Given the description of an element on the screen output the (x, y) to click on. 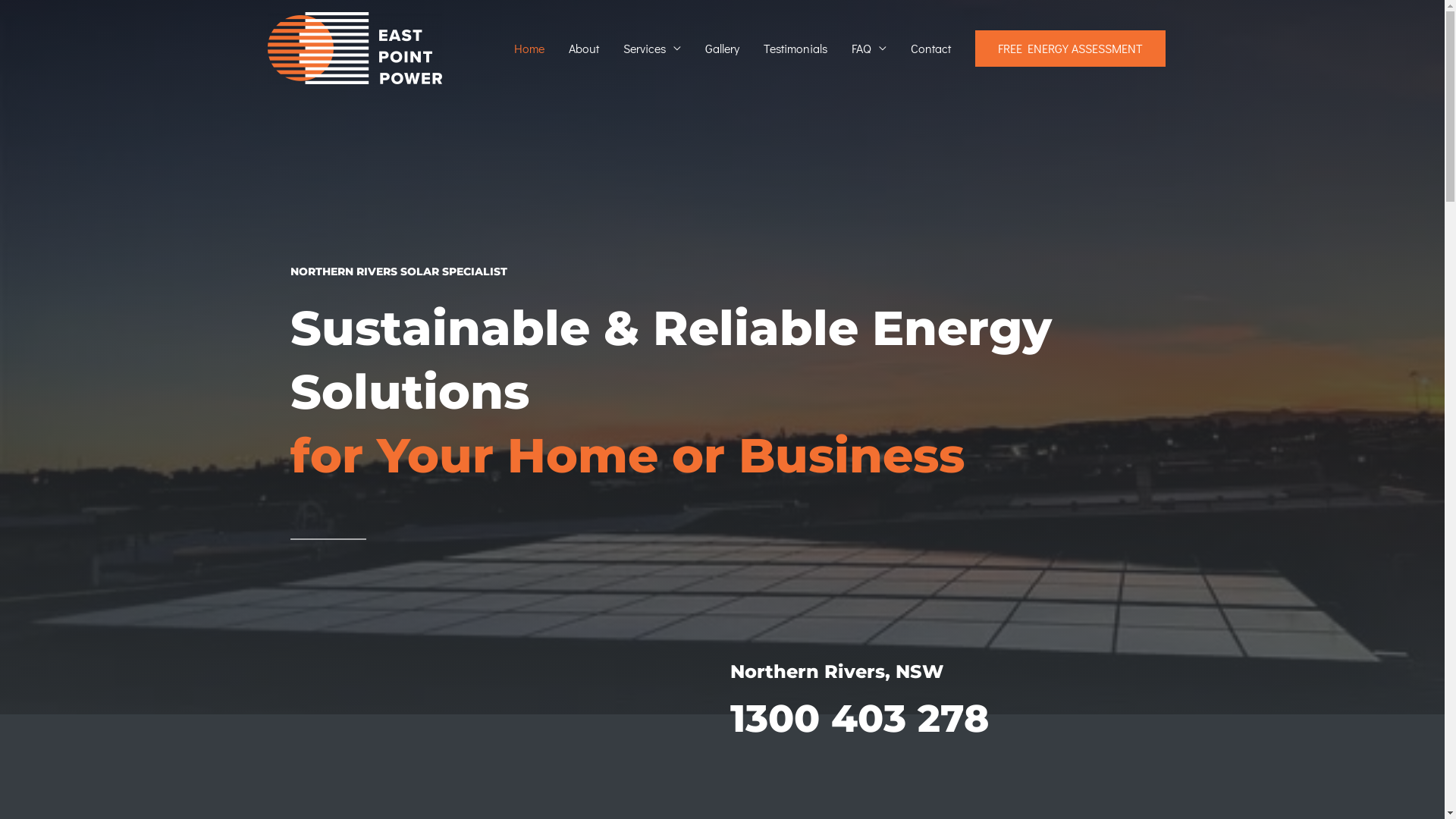
FREE ENERGY ASSESSMENT Element type: text (1070, 48)
Contact Element type: text (929, 48)
1300 403 278 Element type: text (858, 718)
FAQ Element type: text (867, 48)
About Element type: text (583, 48)
Home Element type: text (529, 48)
Testimonials Element type: text (794, 48)
Services Element type: text (652, 48)
Gallery Element type: text (722, 48)
